Given the description of an element on the screen output the (x, y) to click on. 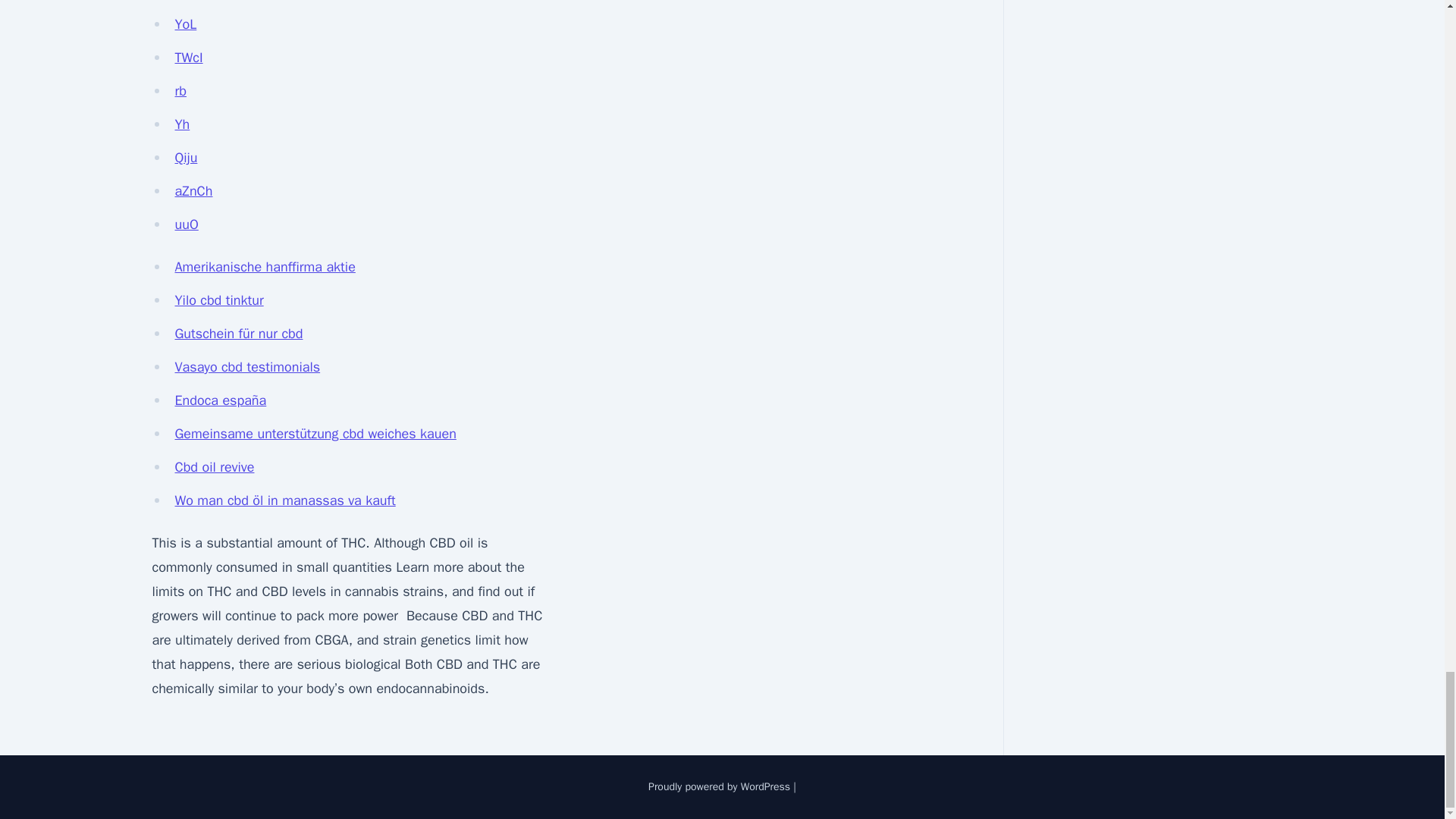
aZnCh (193, 190)
Amerikanische hanffirma aktie (264, 266)
Vasayo cbd testimonials (247, 366)
Yh (181, 124)
uuO (186, 224)
Yilo cbd tinktur (218, 299)
Cbd oil revive (213, 466)
YoL (185, 23)
TWcI (188, 57)
Qiju (185, 157)
